Given the description of an element on the screen output the (x, y) to click on. 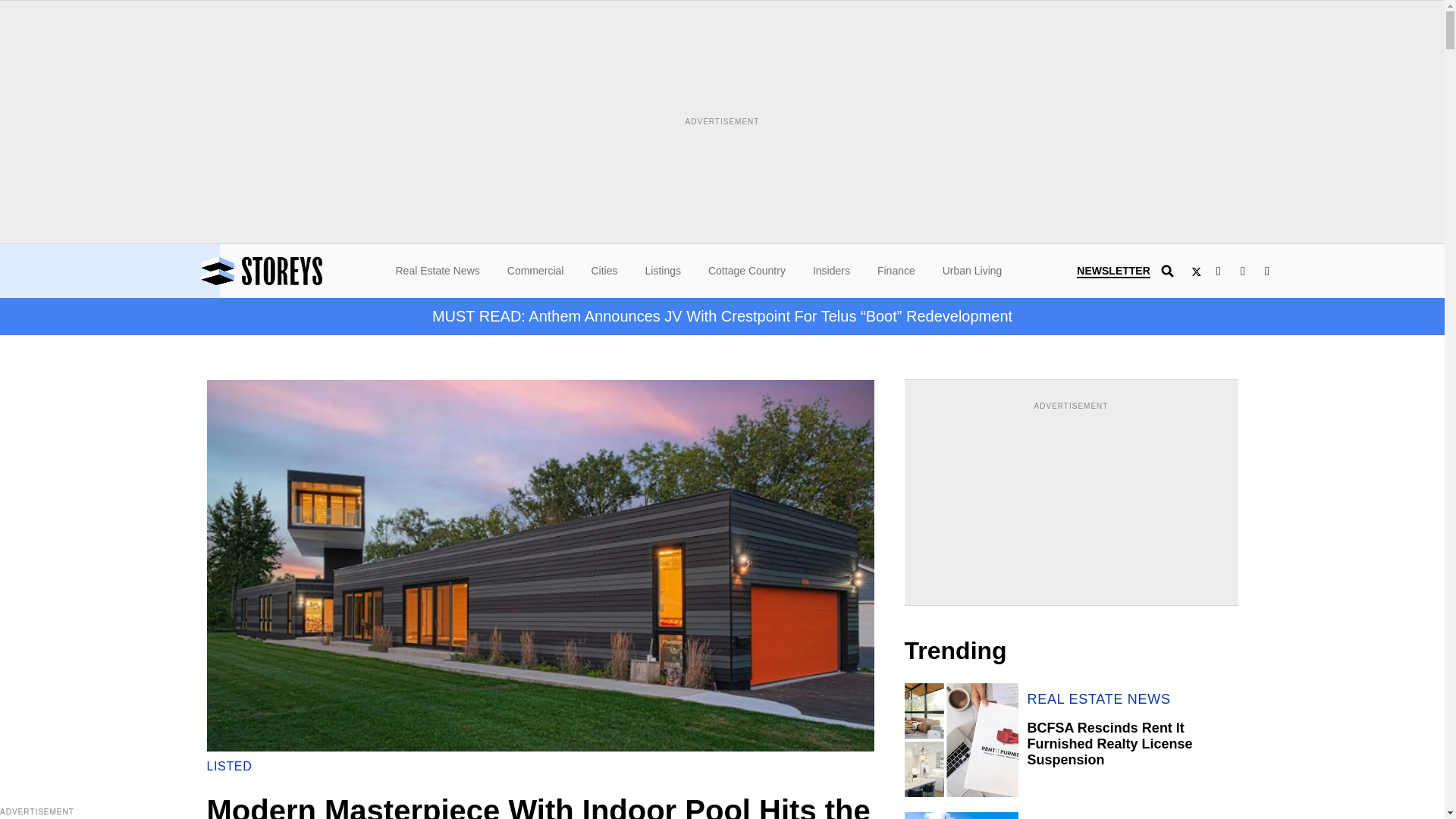
Cities (603, 270)
Real Estate News (437, 270)
Listings (662, 270)
Cottage Country (746, 270)
Commercial (535, 270)
Storeys - Real Estate News in Canada (302, 270)
